Given the description of an element on the screen output the (x, y) to click on. 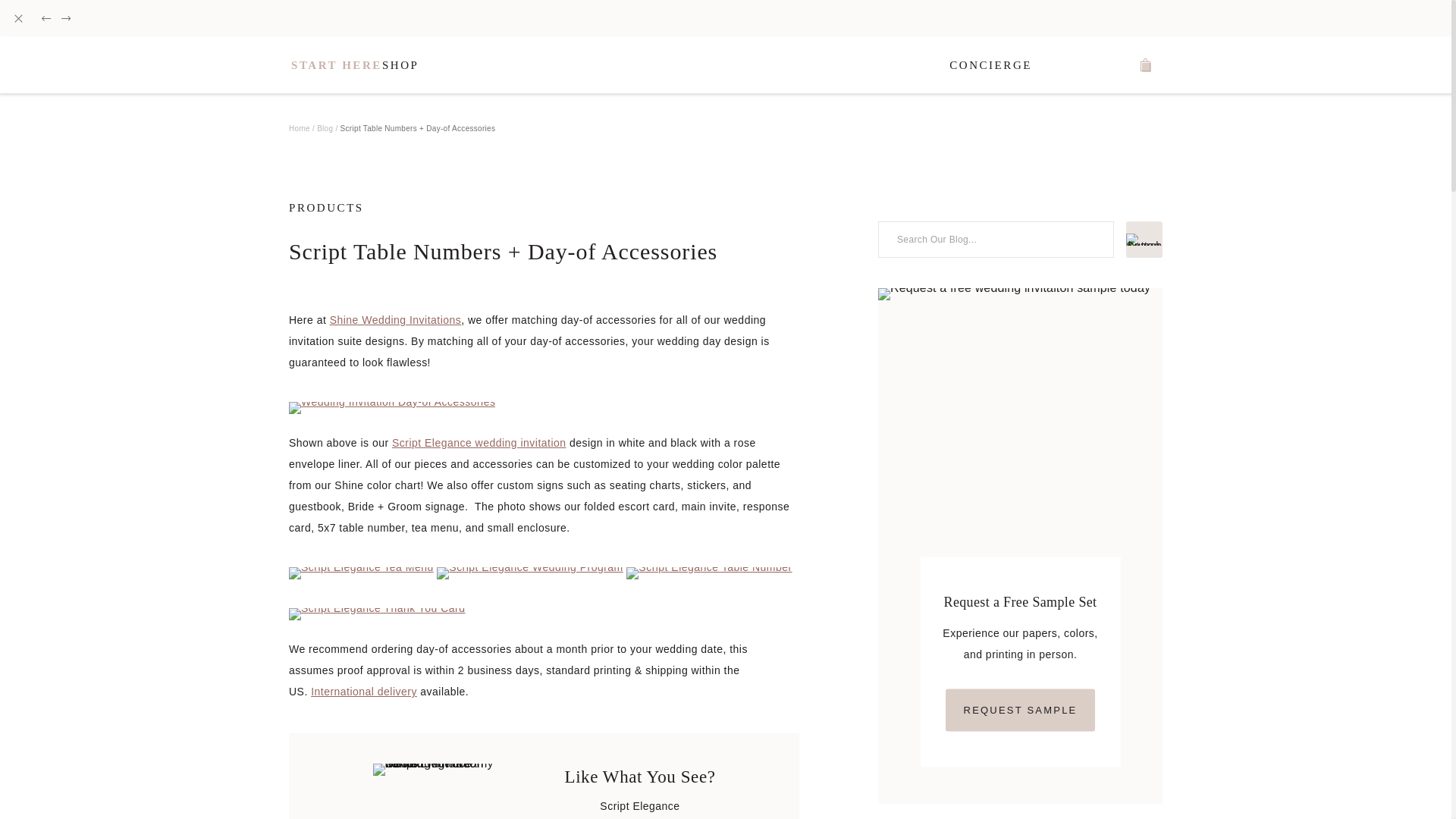
Shine Wedding Invitations (395, 319)
International delivery (363, 691)
CONCIERGE (990, 65)
REQUEST SAMPLE (1020, 709)
START HERE (336, 65)
Blog (325, 126)
SHOP (400, 65)
Script Elegance wedding invitation (478, 442)
Home (299, 126)
